Given the description of an element on the screen output the (x, y) to click on. 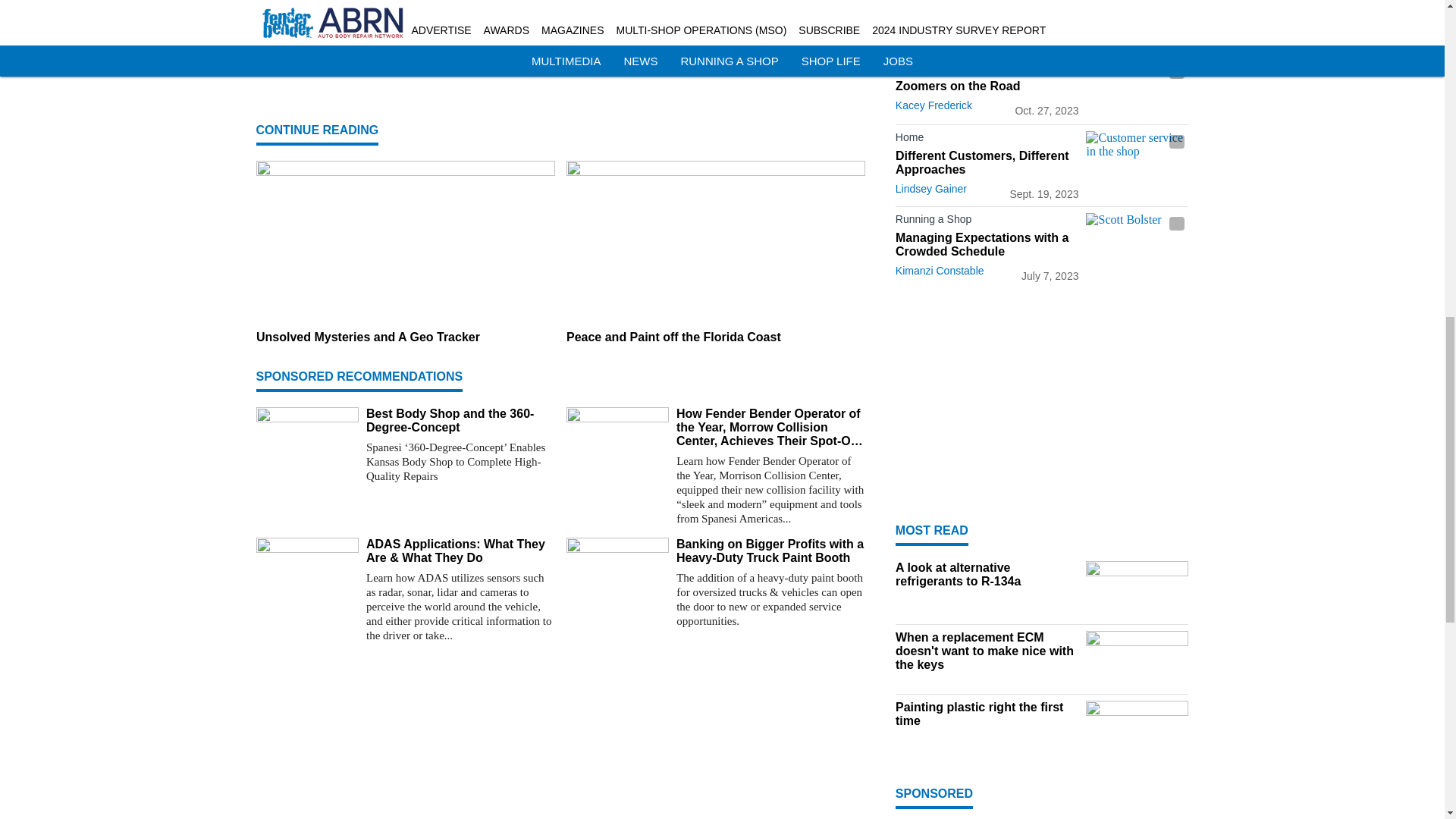
Customer service in the shop (1137, 159)
Best Body Shop and the 360-Degree-Concept (459, 420)
Young driver (1137, 89)
Kacey Frederick (933, 105)
Zoomers on the Road (986, 86)
Peace and Paint off the Florida Coast (715, 336)
www.TotallyMOOG.com (549, 58)
Home (986, 70)
Scott Bolster (1137, 241)
Unsolved Mysteries and A Geo Tracker (405, 336)
